Given the description of an element on the screen output the (x, y) to click on. 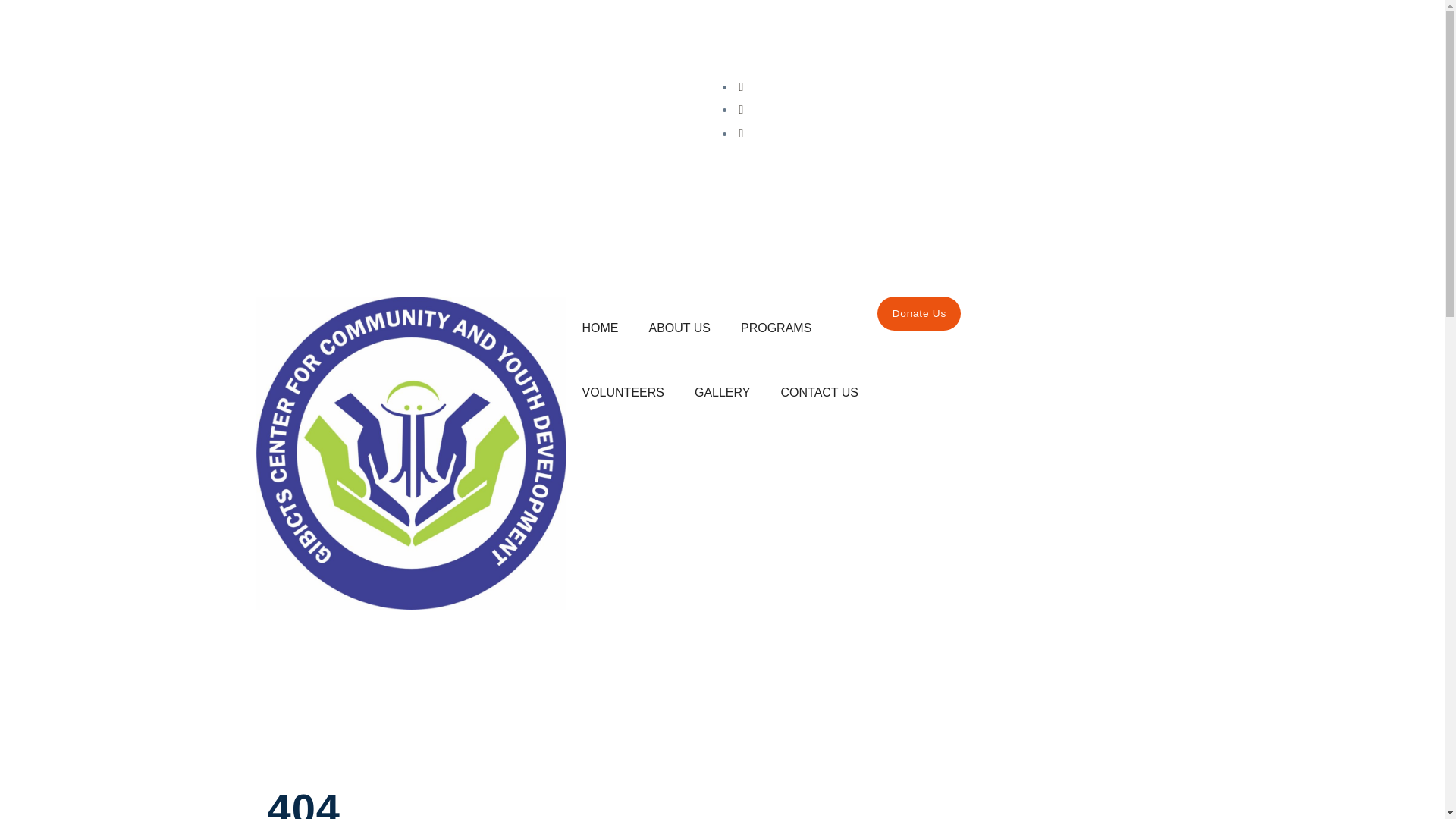
HOME (599, 328)
ABOUT US (679, 328)
ABOUT US (679, 328)
GALLERY (722, 392)
GALLERY (722, 392)
VOLUNTEERS (622, 392)
Donate Us (918, 313)
PROGRAMS (776, 328)
HOME (599, 328)
CONTACT US (819, 392)
PROGRAMS (776, 328)
VOLUNTEERS (622, 392)
